Given the description of an element on the screen output the (x, y) to click on. 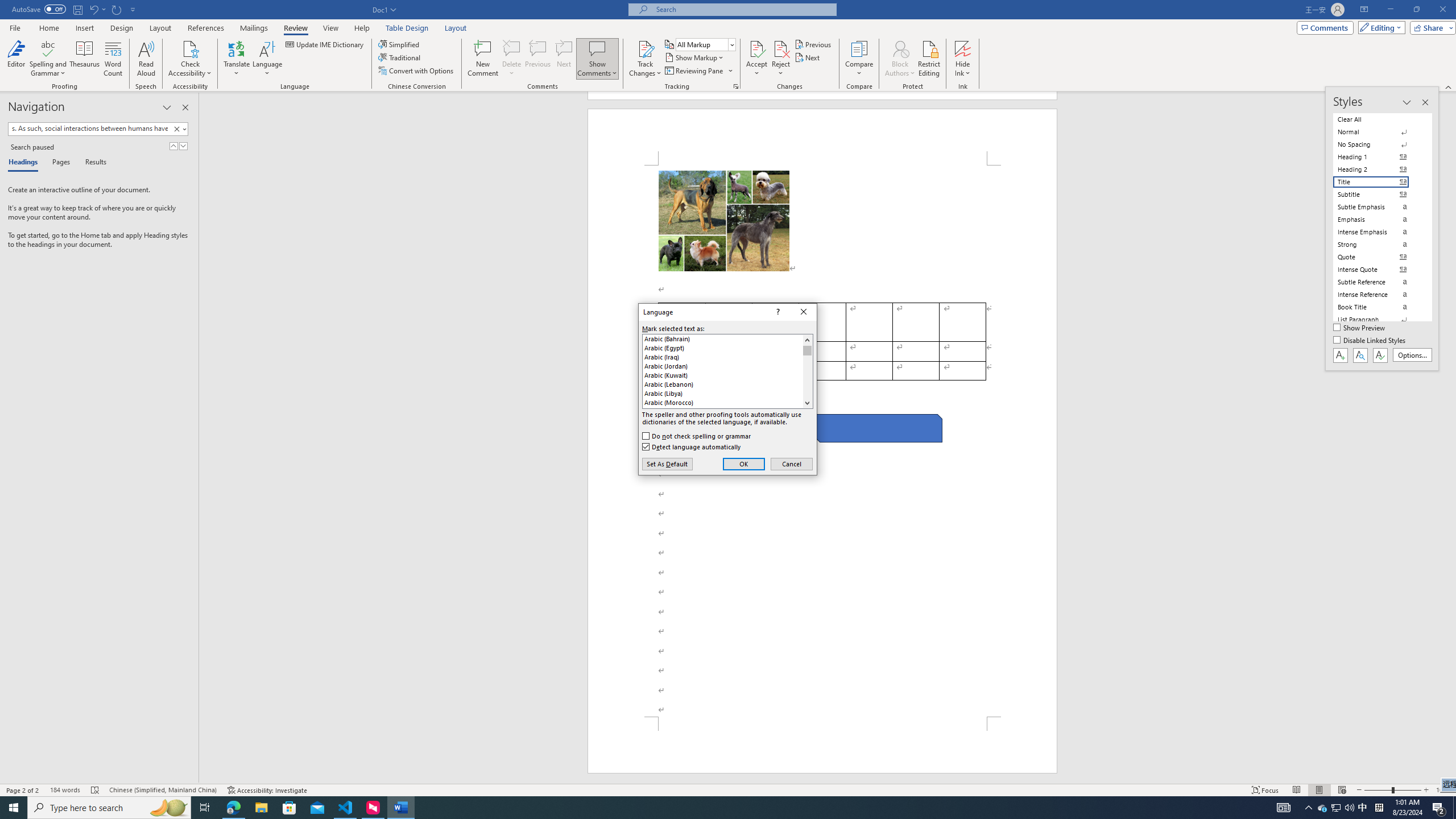
Show Comments (597, 48)
Delete (511, 48)
Set As Default (667, 463)
New Comment (482, 58)
Class: NetUIButton (1380, 355)
